Given the description of an element on the screen output the (x, y) to click on. 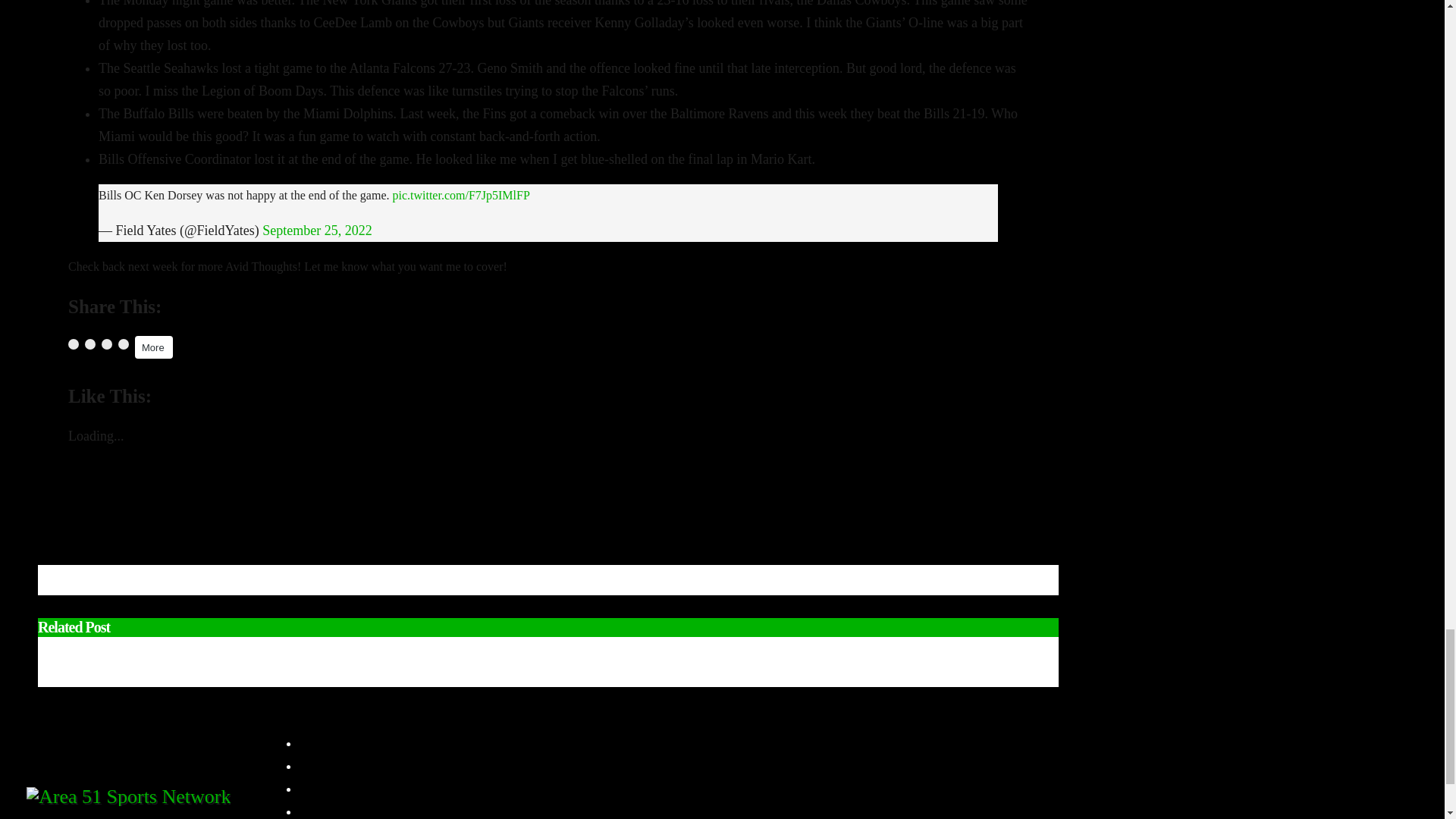
Click to share on Facebook (73, 344)
Click to share on X (90, 344)
Click to share on LinkedIn (106, 344)
